Given the description of an element on the screen output the (x, y) to click on. 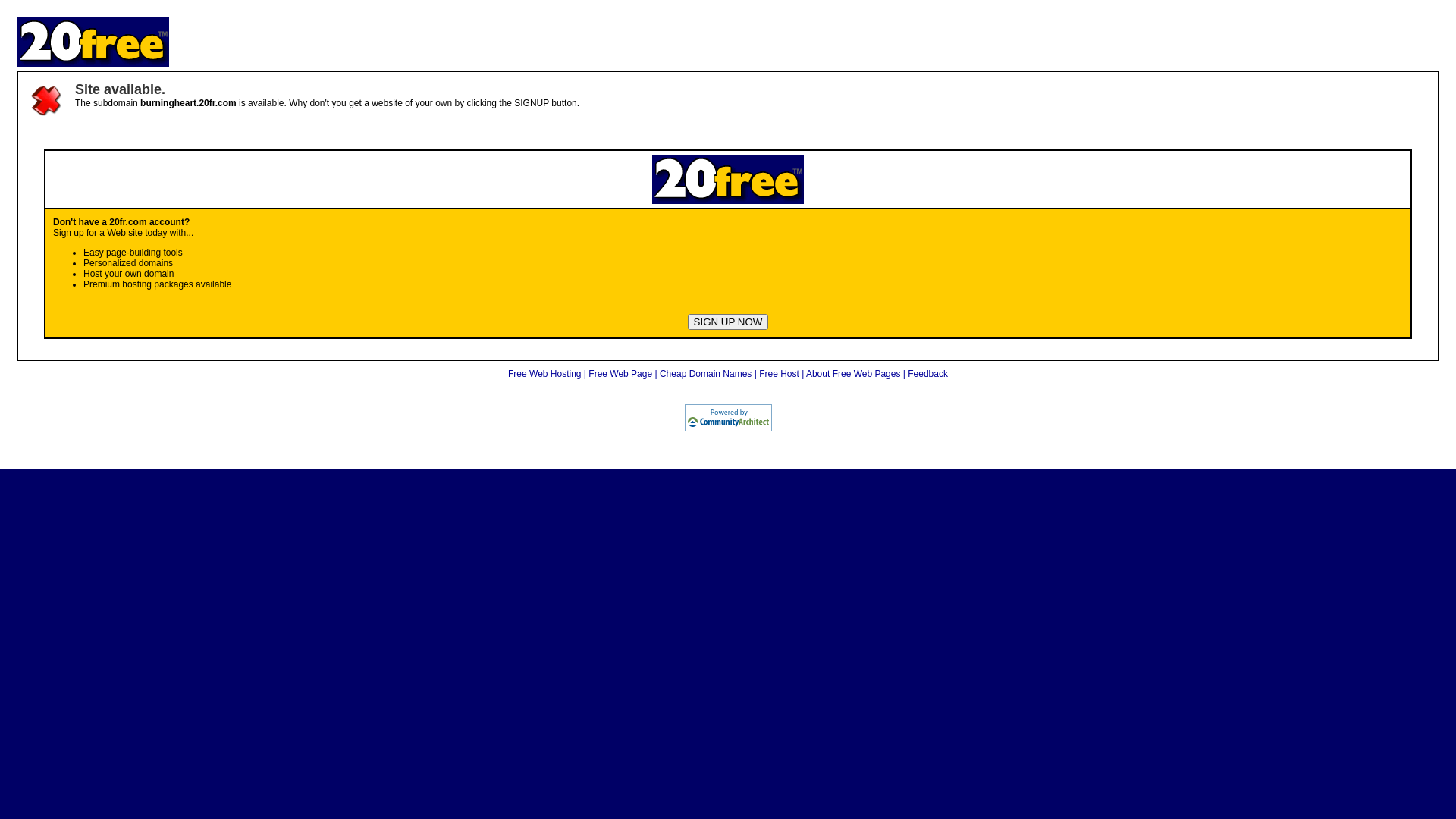
SIGN UP NOW Element type: text (727, 321)
Free Web Hosting Element type: text (544, 373)
About Free Web Pages Element type: text (853, 373)
Cheap Domain Names Element type: text (705, 373)
Free Web Page Element type: text (620, 373)
Feedback Element type: text (927, 373)
Free Host Element type: text (779, 373)
